Given the description of an element on the screen output the (x, y) to click on. 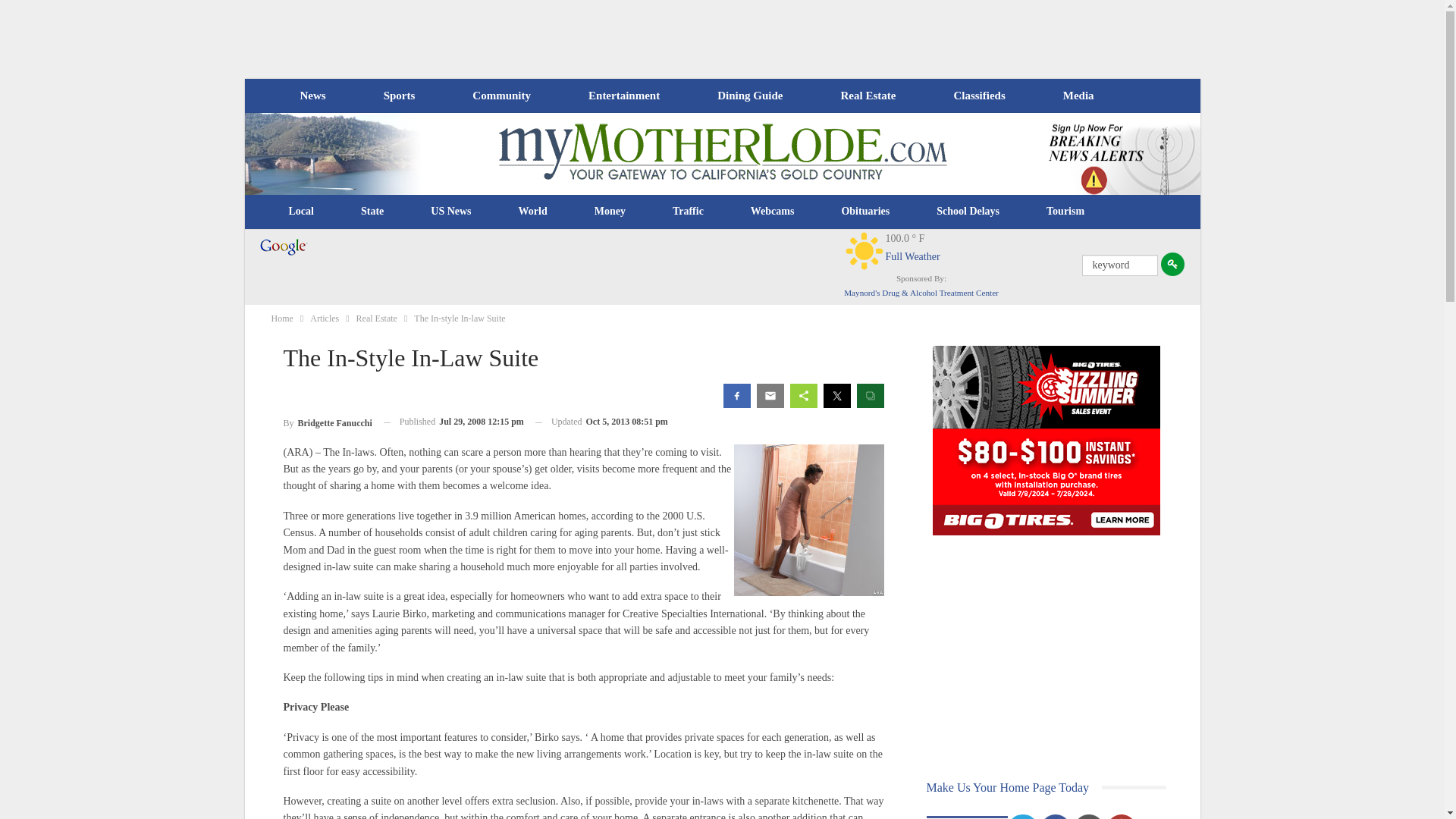
Local (300, 211)
School Delays (967, 211)
Webcams (772, 211)
News (312, 95)
US News (451, 211)
Browse Author Articles (327, 421)
Obituaries (865, 211)
Clear (864, 250)
Sports (399, 95)
keyword (1119, 265)
Money (609, 211)
Classifieds (979, 95)
